Given the description of an element on the screen output the (x, y) to click on. 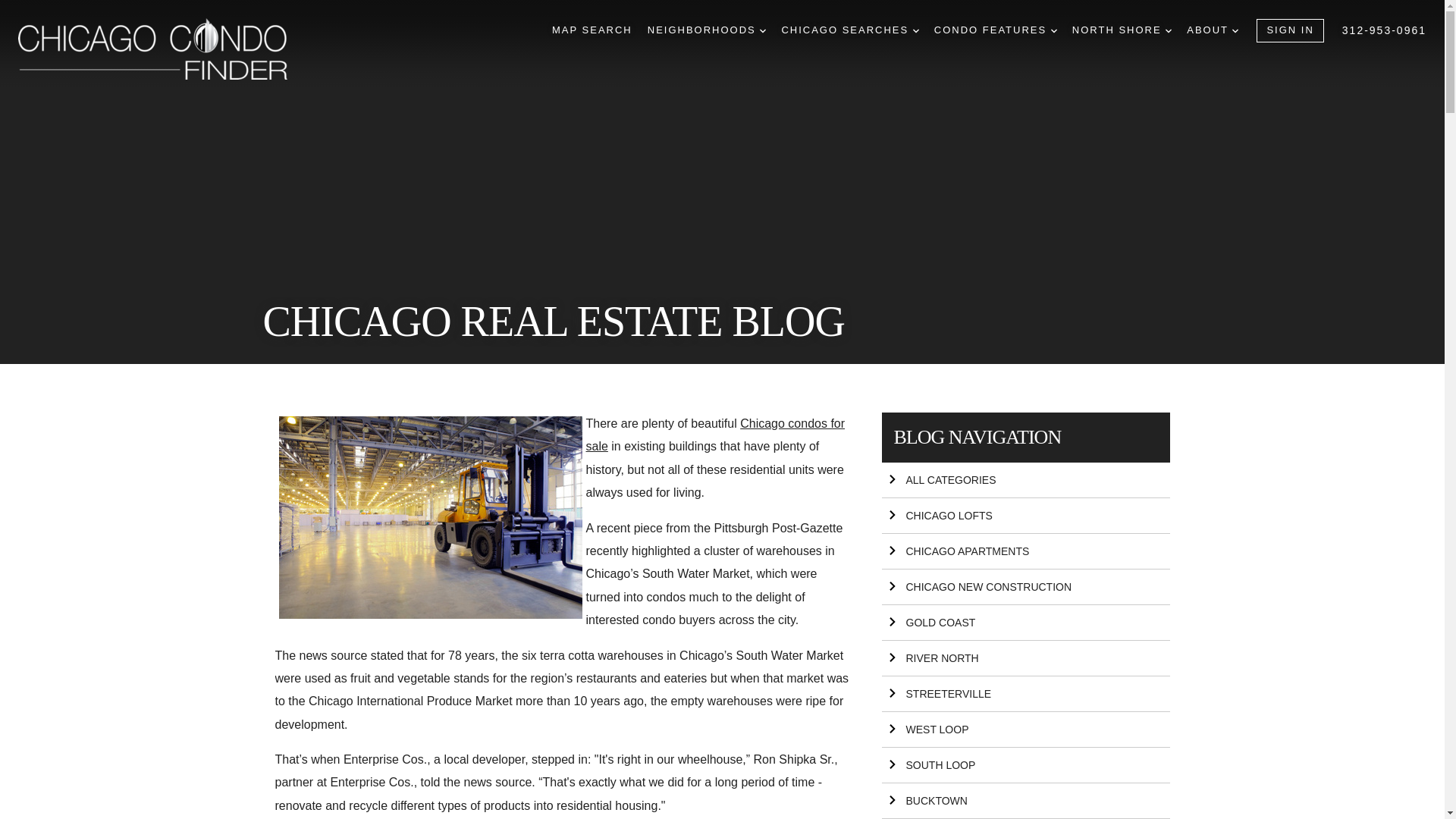
DROPDOWN ARROW (915, 30)
NEIGHBORHOODS DROPDOWN ARROW (707, 30)
DROPDOWN ARROW (1169, 30)
DROPDOWN ARROW (762, 30)
DROPDOWN ARROW (1235, 30)
DROPDOWN ARROW (1054, 30)
MAP SEARCH (591, 30)
CHICAGO SEARCHES DROPDOWN ARROW (849, 30)
